Given the description of an element on the screen output the (x, y) to click on. 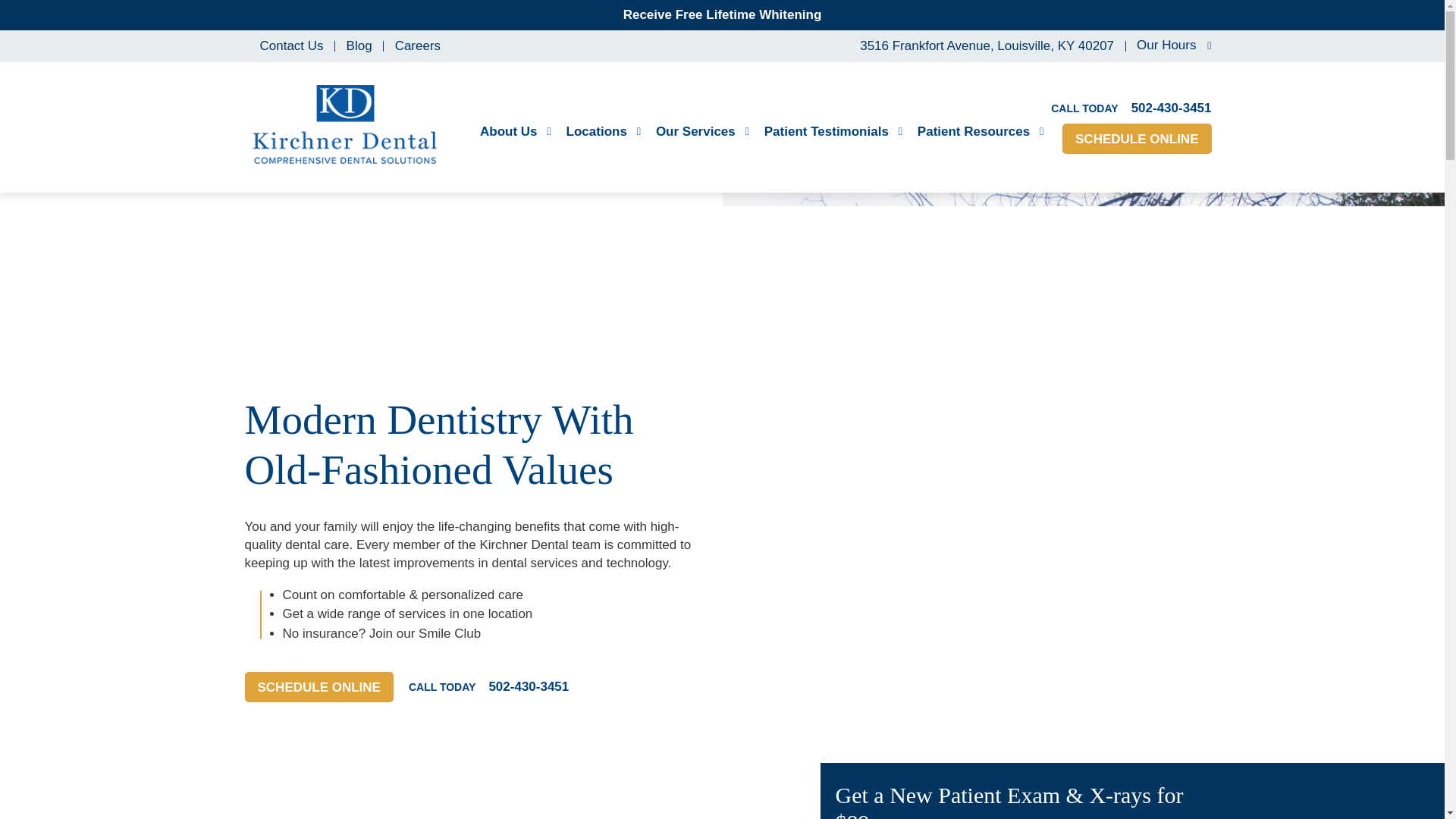
Blog (359, 45)
3516 Frankfort Avenue, Louisville, KY 40207 (983, 45)
Receive Free Lifetime Whitening (722, 14)
About Us (515, 131)
Careers (417, 45)
Locations (603, 131)
Contact Us (291, 45)
